Given the description of an element on the screen output the (x, y) to click on. 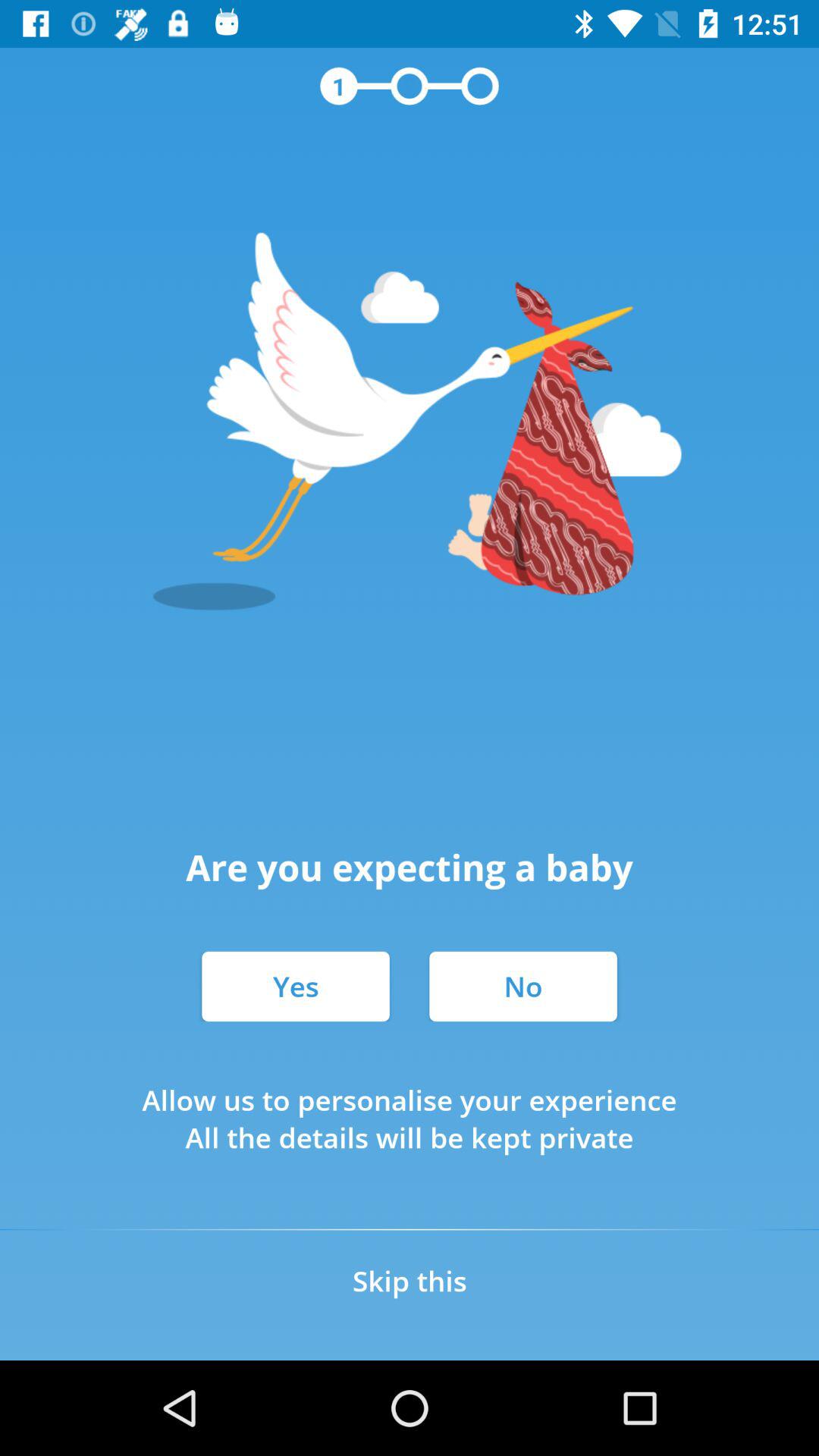
choose the item to the right of yes item (523, 986)
